Given the description of an element on the screen output the (x, y) to click on. 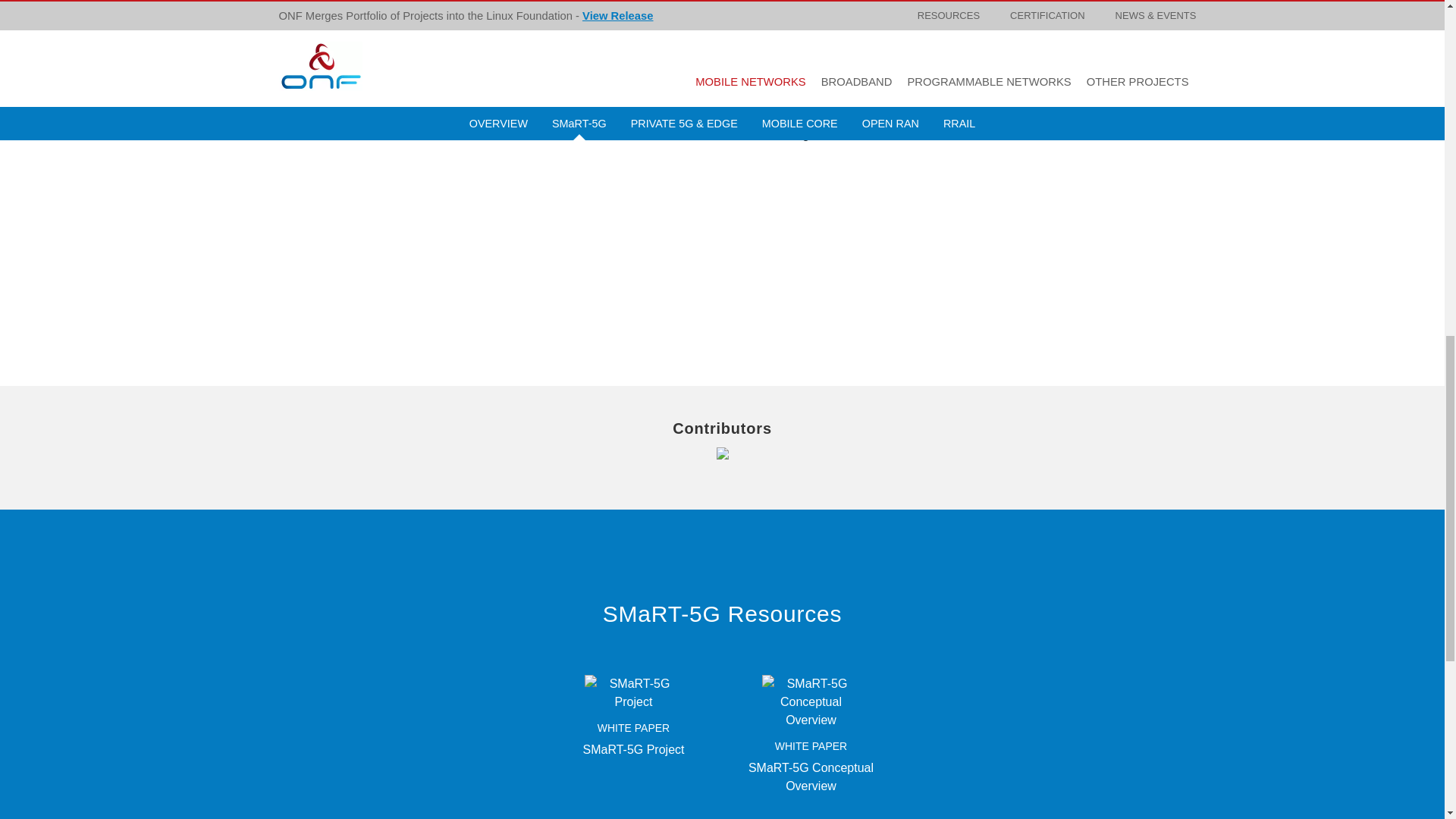
SMaRT-5G Project (632, 691)
SMaRT-5G Conceptual Overview (810, 776)
SMaRT-5G Project (633, 748)
SMaRT-5G Conceptual Overview (810, 700)
